Given the description of an element on the screen output the (x, y) to click on. 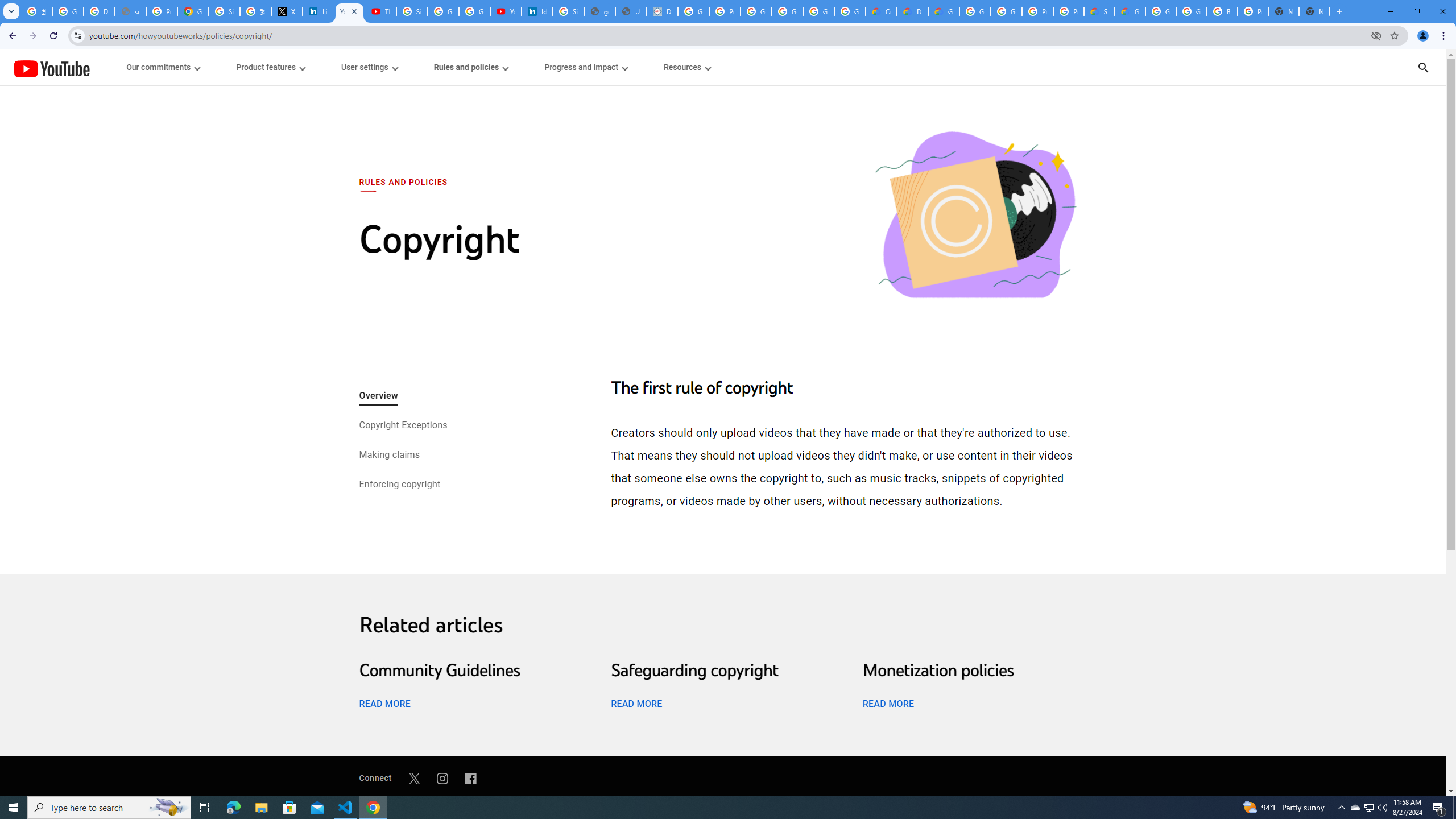
Twitter (413, 778)
Resources menupopup (686, 67)
google_privacy_policy_en.pdf (599, 11)
Google Cloud Service Health (1129, 11)
How YouTube Works (51, 66)
JUMP TO CONTENT (118, 67)
